Given the description of an element on the screen output the (x, y) to click on. 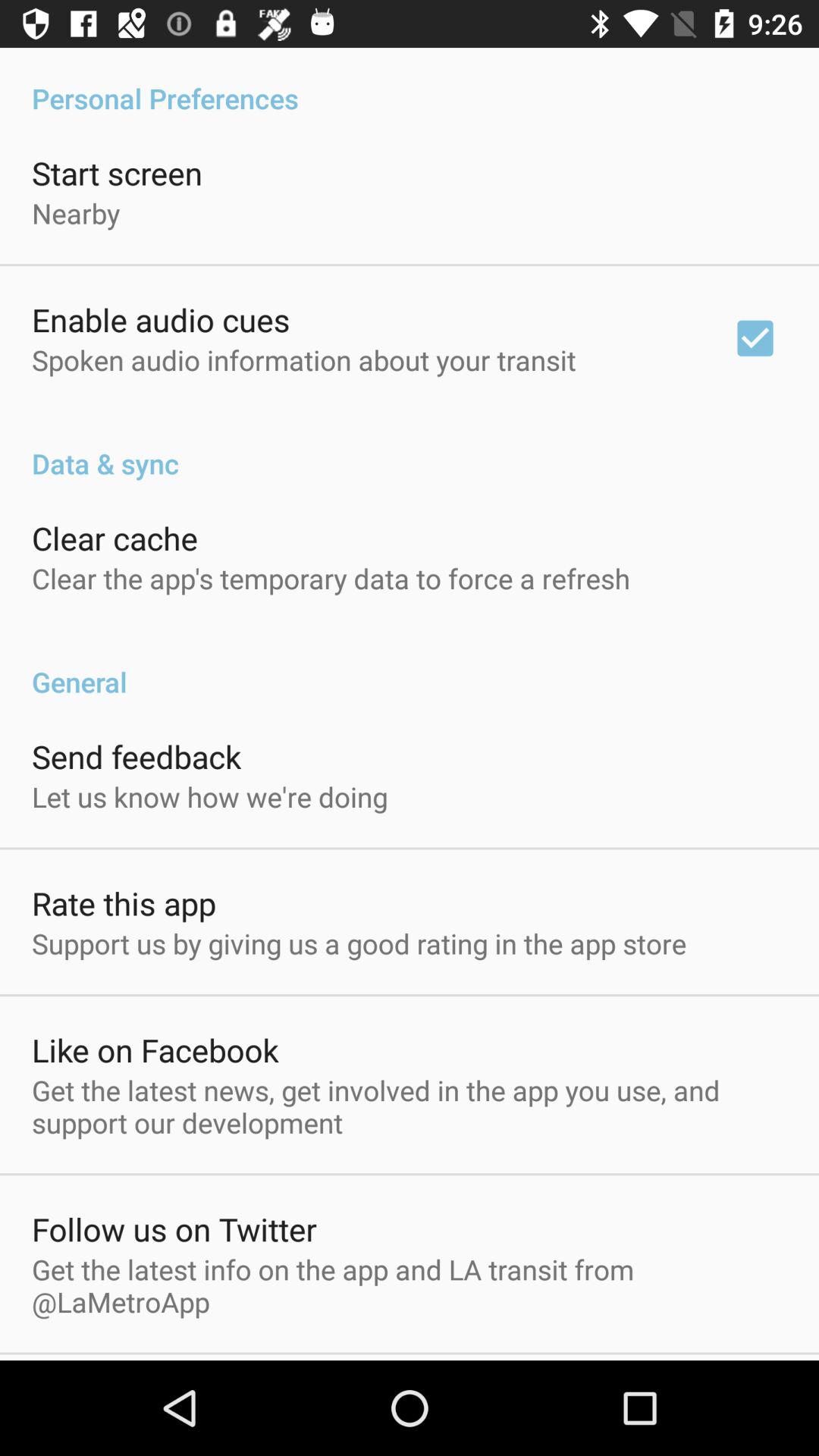
choose item above enable audio cues (75, 213)
